Given the description of an element on the screen output the (x, y) to click on. 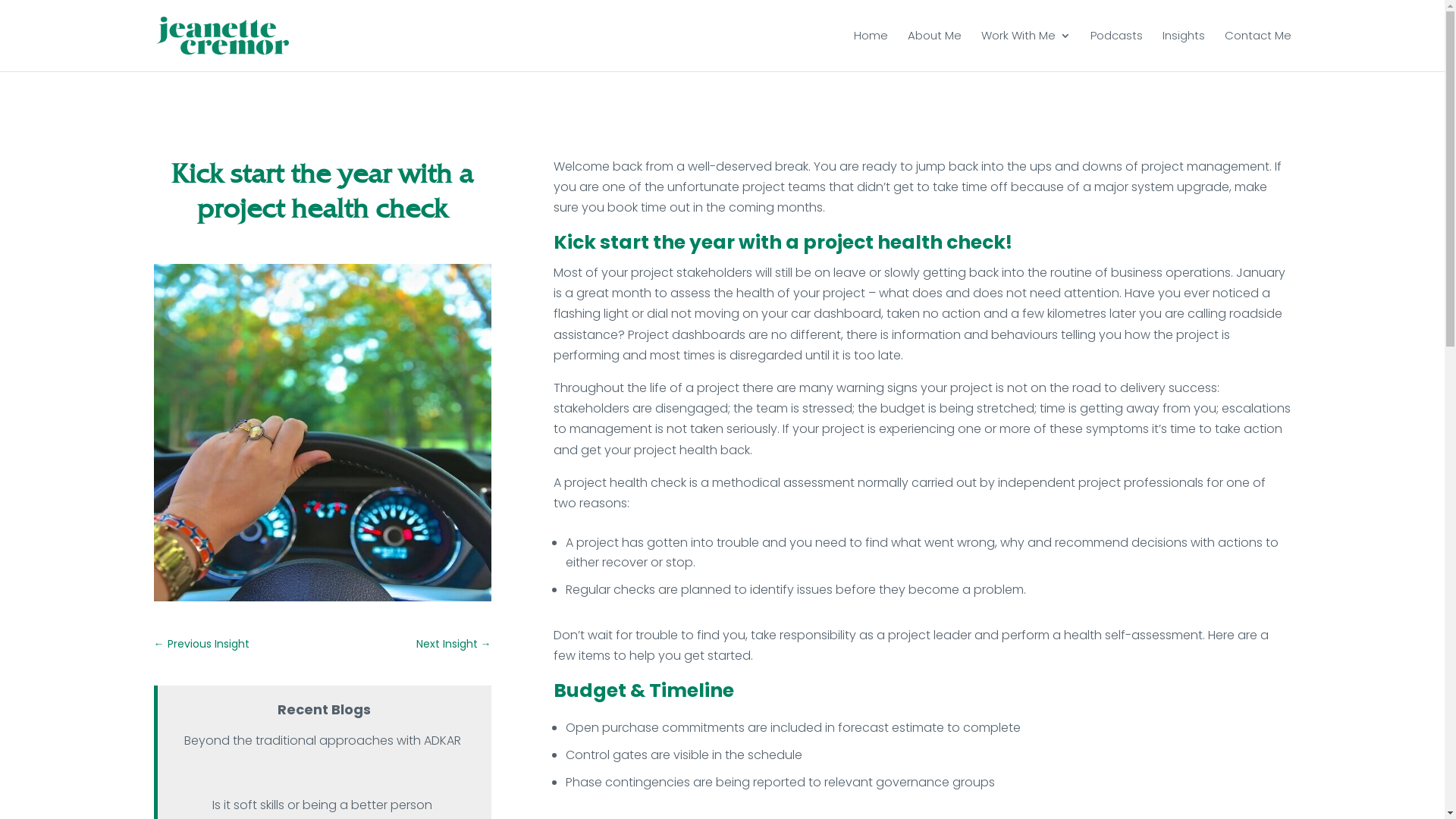
Podcasts Element type: text (1116, 46)
Beyond the traditional approaches with ADKAR Element type: text (321, 740)
Is it soft skills or being a better person Element type: text (322, 804)
Kick start the year with a project health check Element type: hover (321, 432)
Work With Me Element type: text (1025, 46)
About Me Element type: text (933, 46)
Contact Me Element type: text (1256, 46)
Insights Element type: text (1182, 46)
Home Element type: text (870, 46)
